Given the description of an element on the screen output the (x, y) to click on. 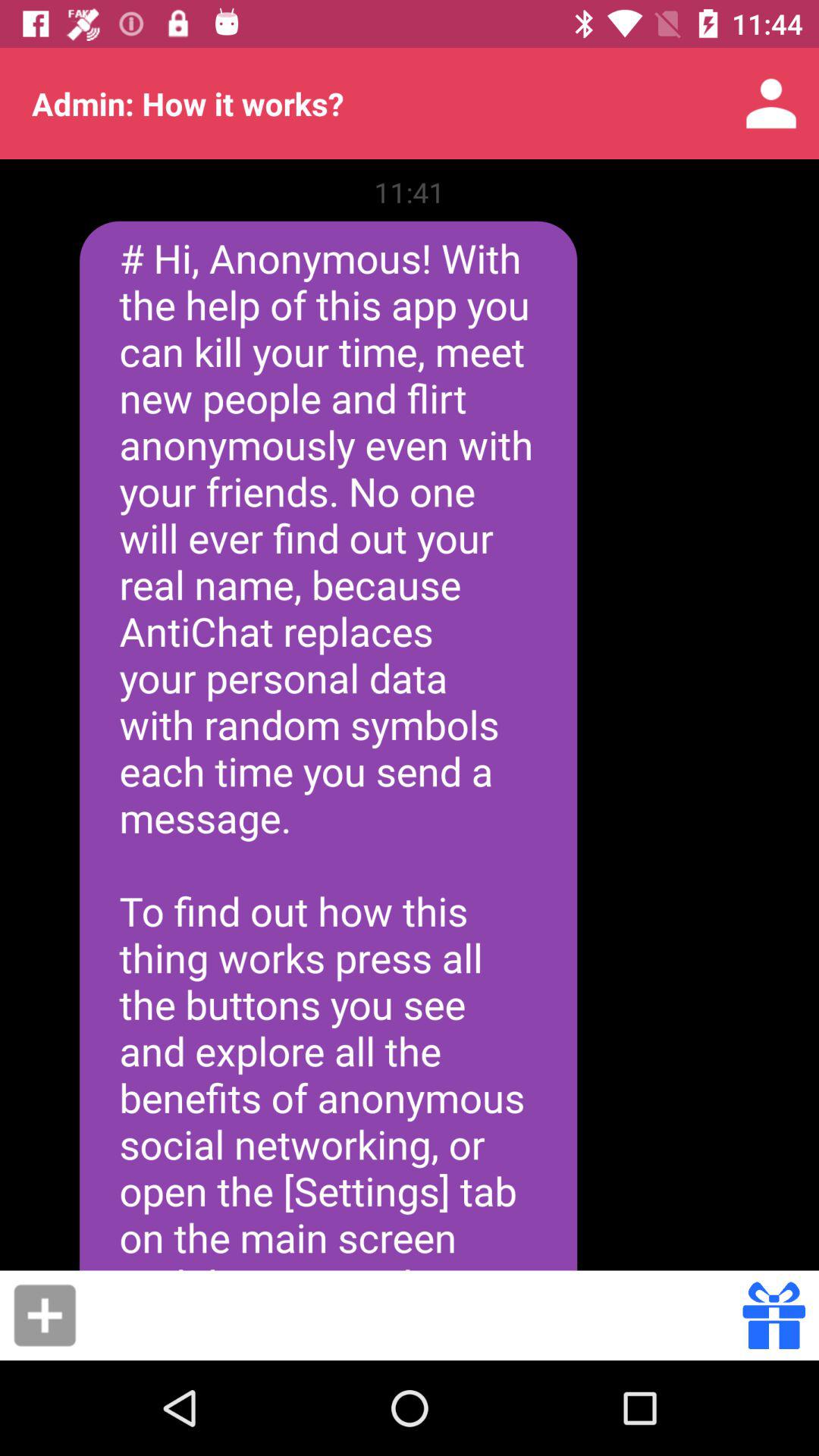
flip until the hi anonymous with item (328, 745)
